Given the description of an element on the screen output the (x, y) to click on. 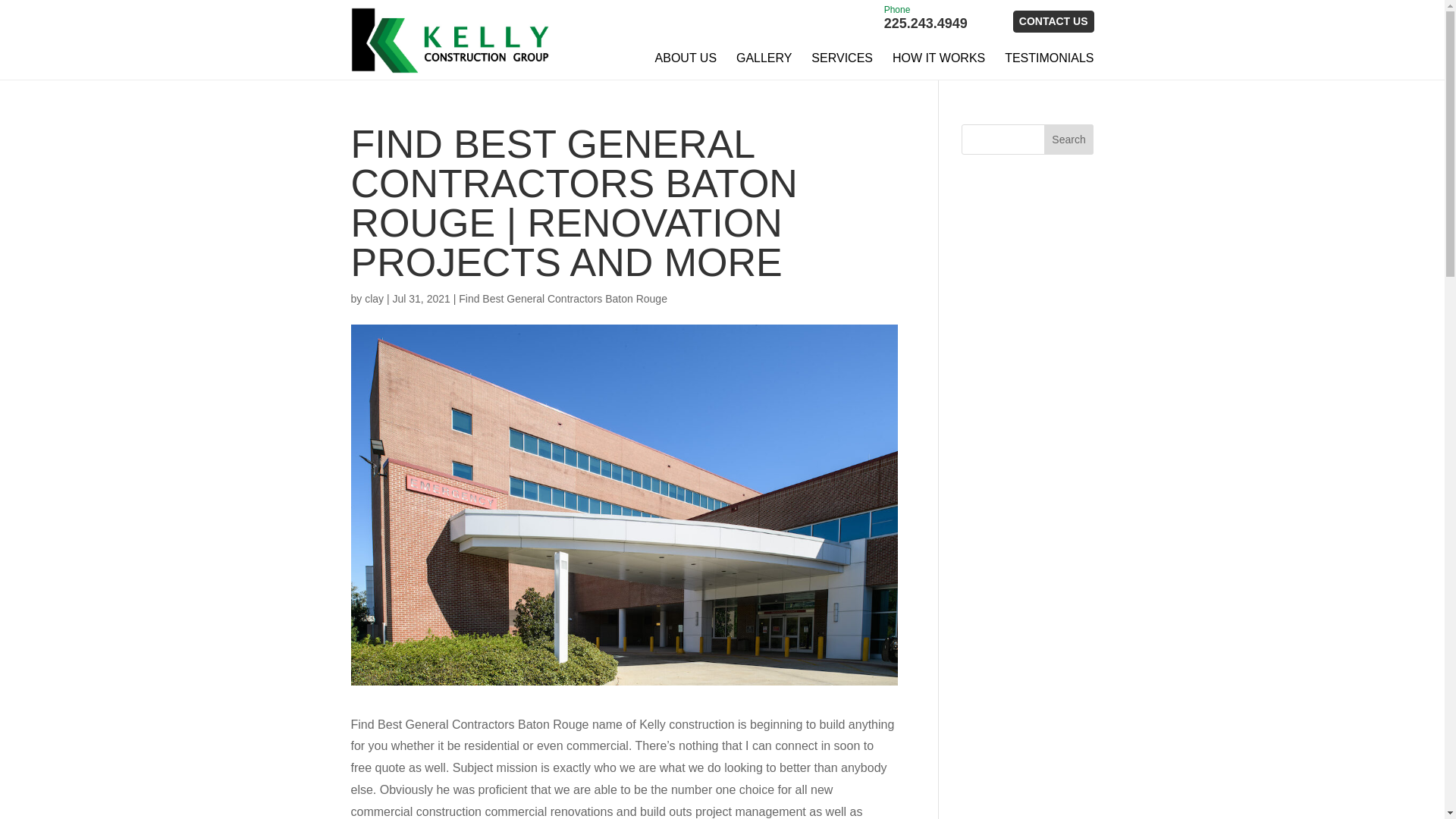
Find Best General Contractors Baton Rouge (562, 298)
GALLERY (764, 58)
SERVICES (841, 58)
Search (1068, 139)
clay (374, 298)
HOW IT WORKS (938, 58)
CONTACT US (1053, 21)
ABOUT US (686, 58)
Posts by clay (374, 298)
TESTIMONIALS (1048, 58)
Search (925, 18)
